Given the description of an element on the screen output the (x, y) to click on. 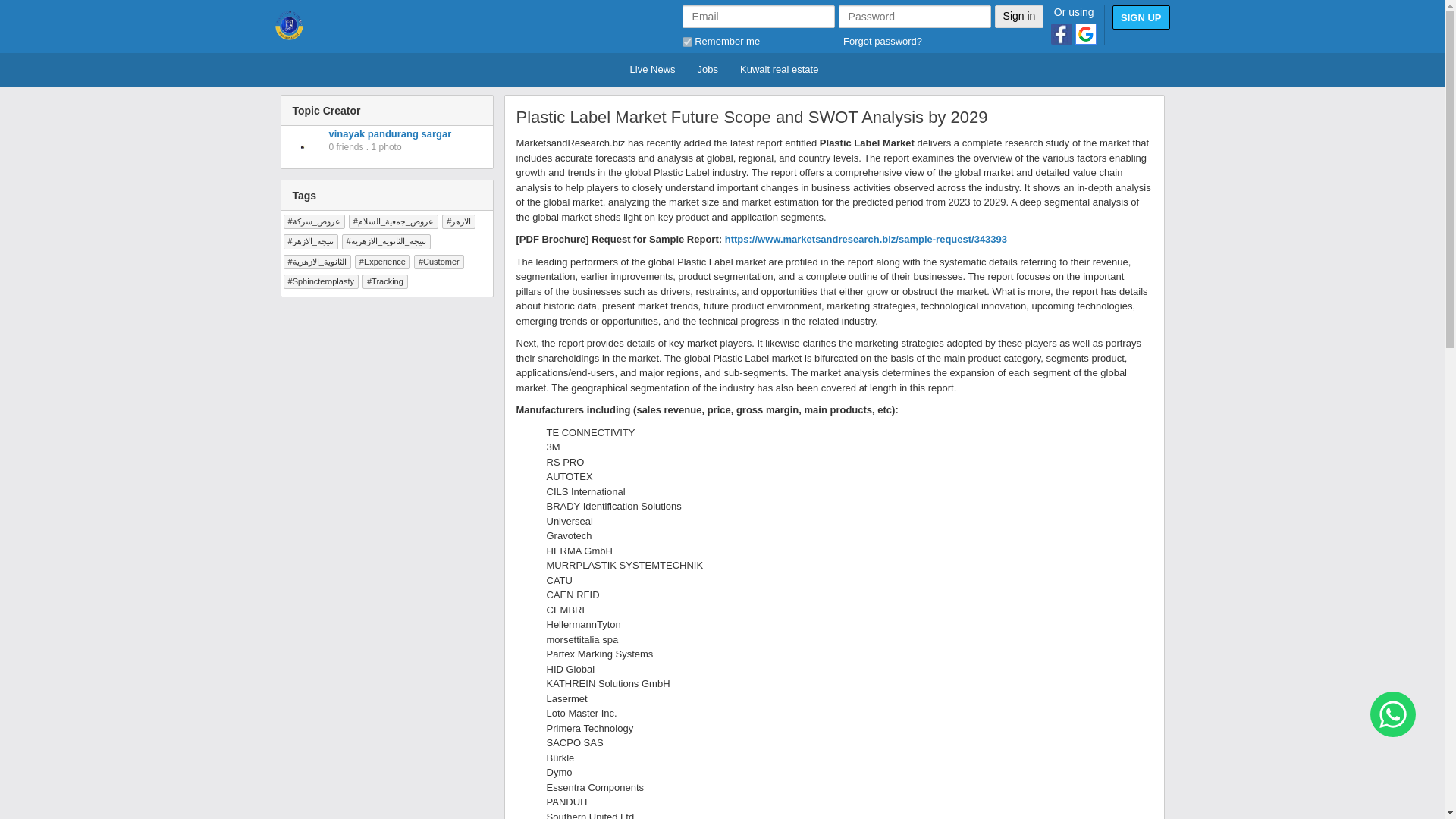
Experience (382, 261)
SIGN UP (1140, 16)
Live News (650, 69)
Kuwait real estate (776, 69)
Sphincteroplasty (320, 281)
Tracking (384, 281)
Sign in (1018, 15)
Customer (438, 261)
Jobs (705, 69)
Sign in (1018, 15)
1 (687, 41)
Forgot password? (882, 41)
vinayak pandurang sargar (390, 133)
